Given the description of an element on the screen output the (x, y) to click on. 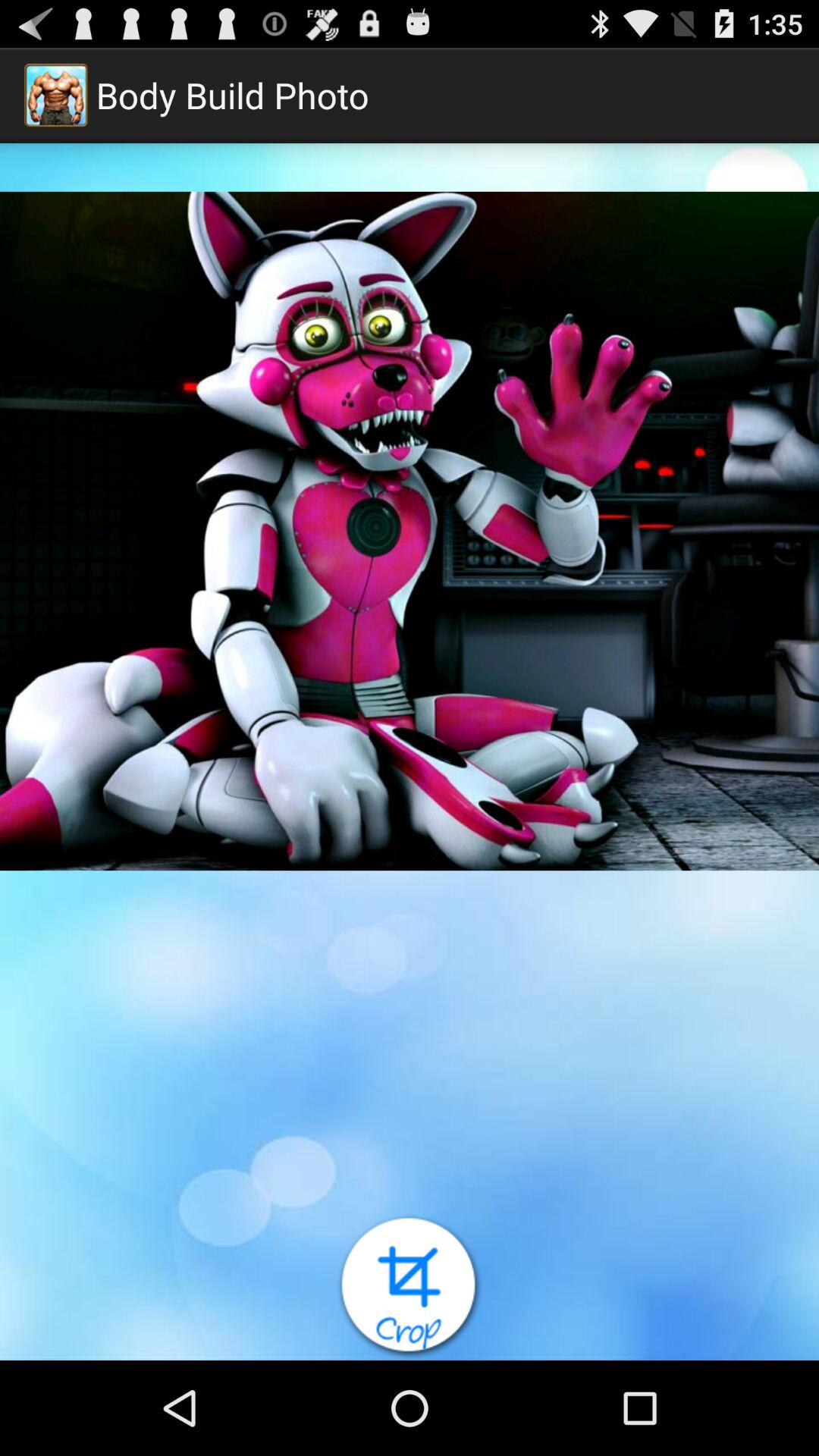
crop (409, 1287)
